Given the description of an element on the screen output the (x, y) to click on. 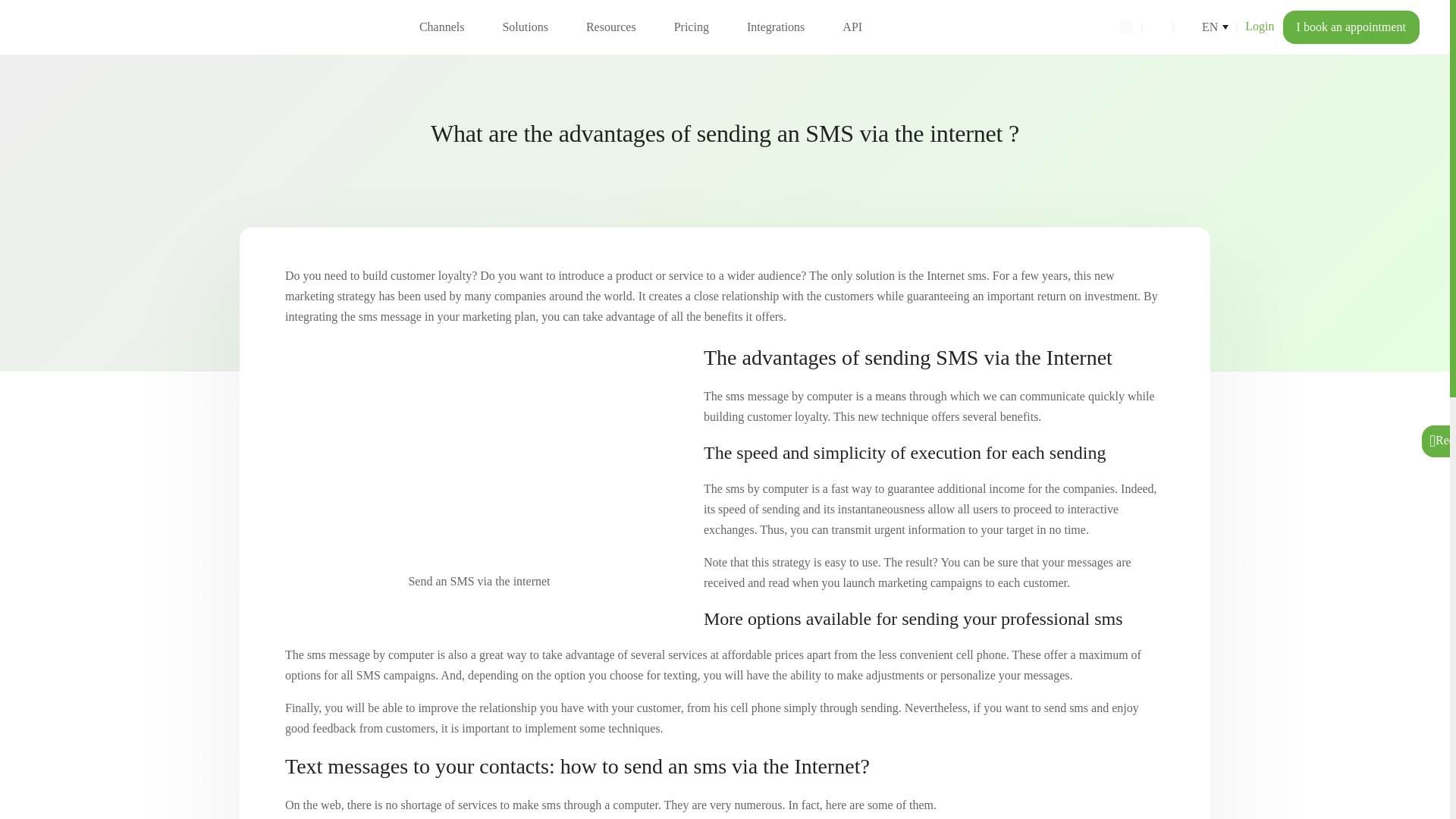
Resources (611, 27)
Integrations (775, 27)
rechercher (1125, 25)
